Given the description of an element on the screen output the (x, y) to click on. 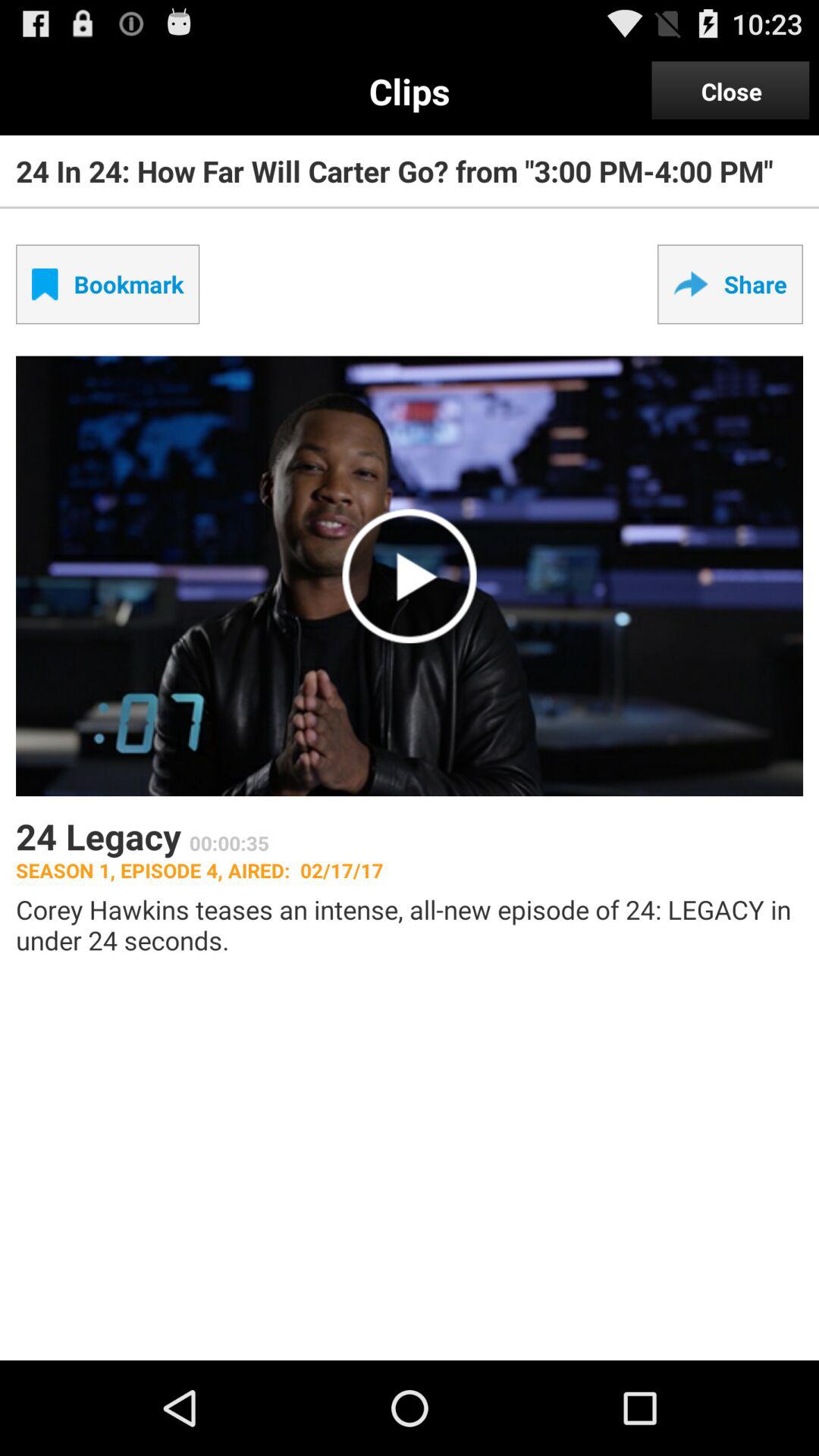
turn off the icon to the left of share (107, 284)
